Given the description of an element on the screen output the (x, y) to click on. 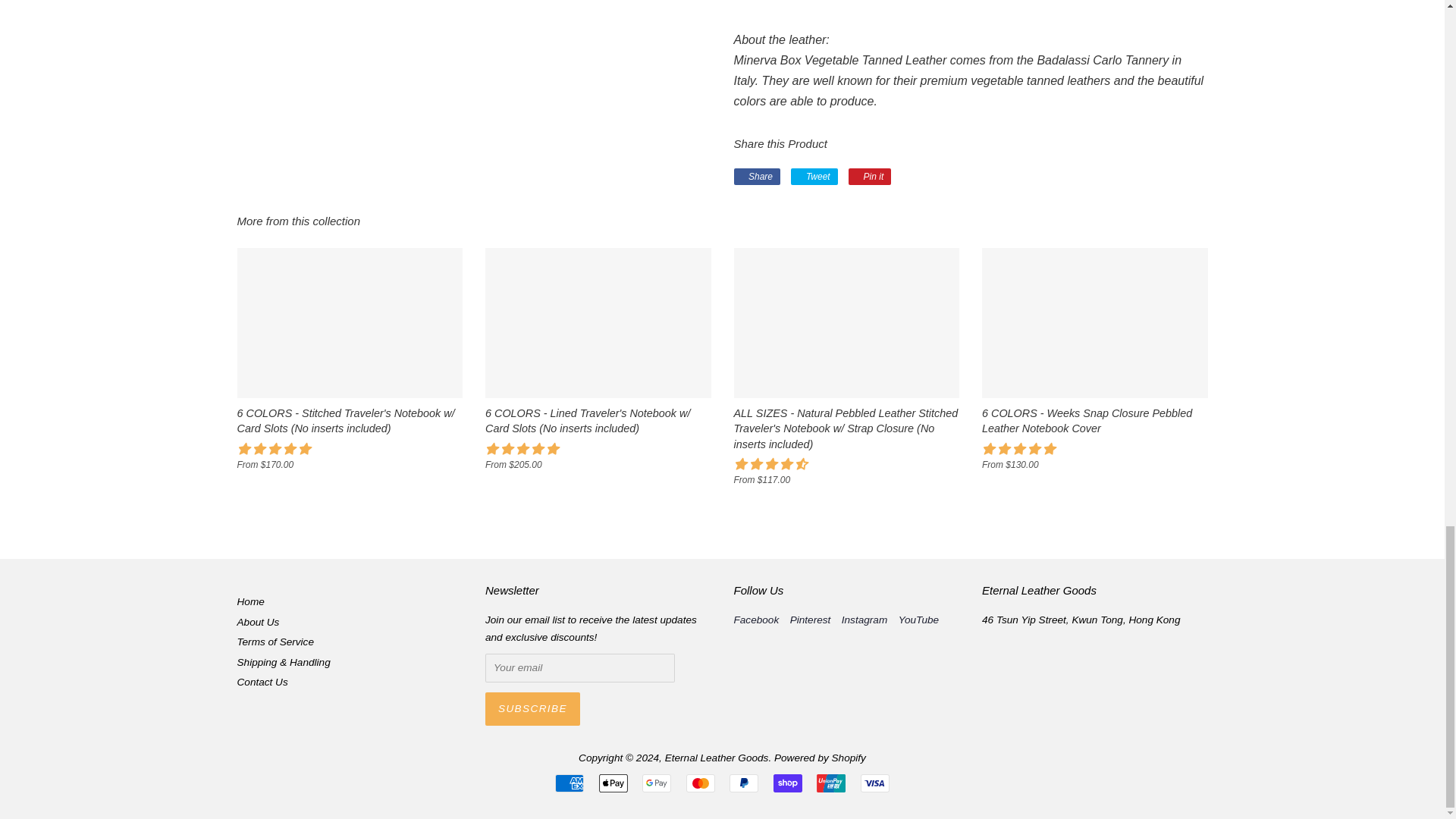
Subscribe (531, 708)
Apple Pay (612, 782)
Union Pay (830, 782)
Visa (874, 782)
Google Pay (656, 782)
Share on Facebook (756, 176)
Tweet on Twitter (813, 176)
Mastercard (699, 782)
Eternal Leather Goods on Facebook (755, 619)
Eternal Leather Goods on Instagram (863, 619)
